Given the description of an element on the screen output the (x, y) to click on. 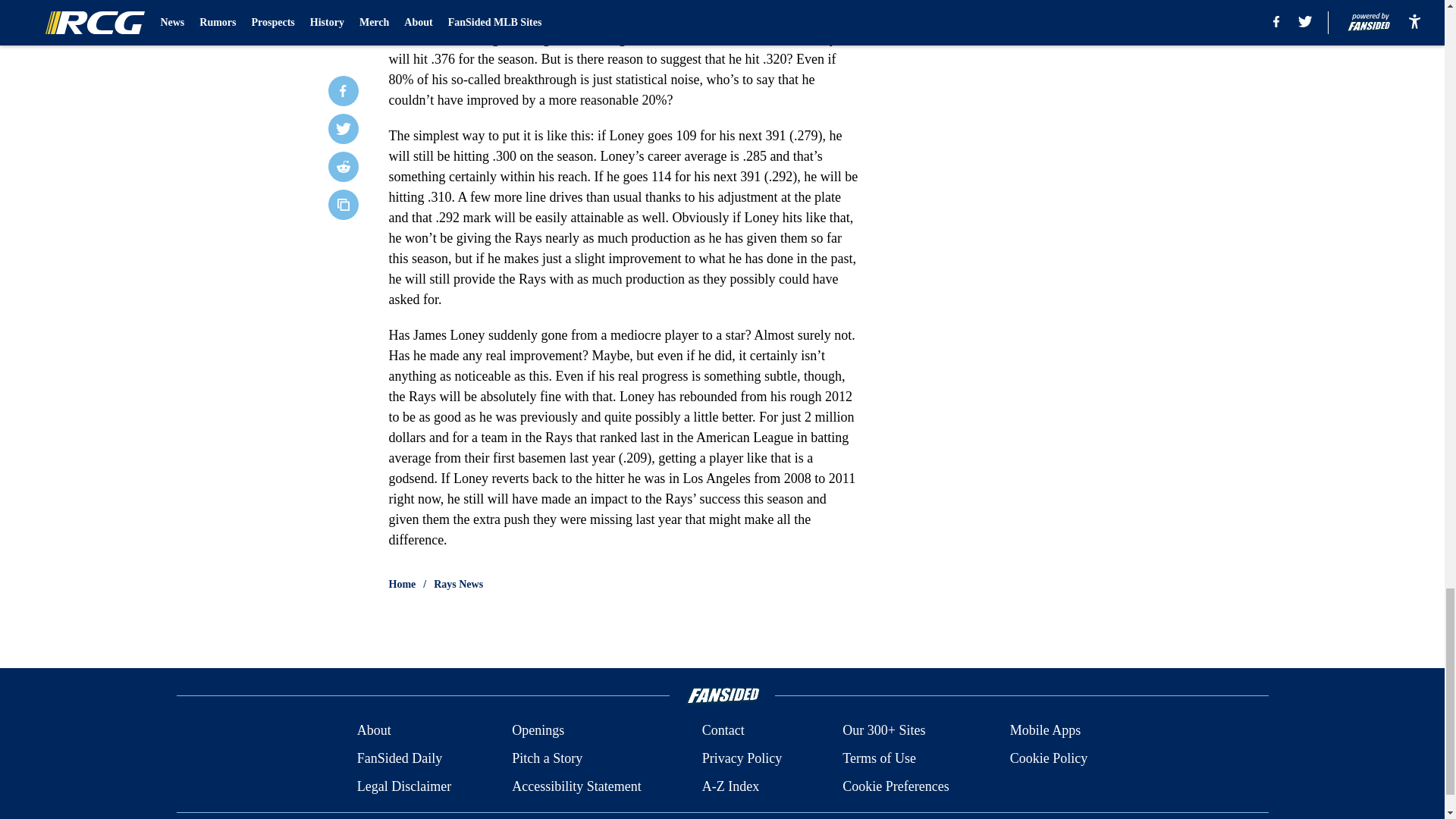
A-Z Index (729, 786)
Cookie Preferences (896, 786)
Cookie Policy (1048, 758)
FanSided Daily (399, 758)
Mobile Apps (1045, 730)
Accessibility Statement (576, 786)
Rays News (458, 584)
Legal Disclaimer (403, 786)
Home (401, 584)
Contact (722, 730)
